Given the description of an element on the screen output the (x, y) to click on. 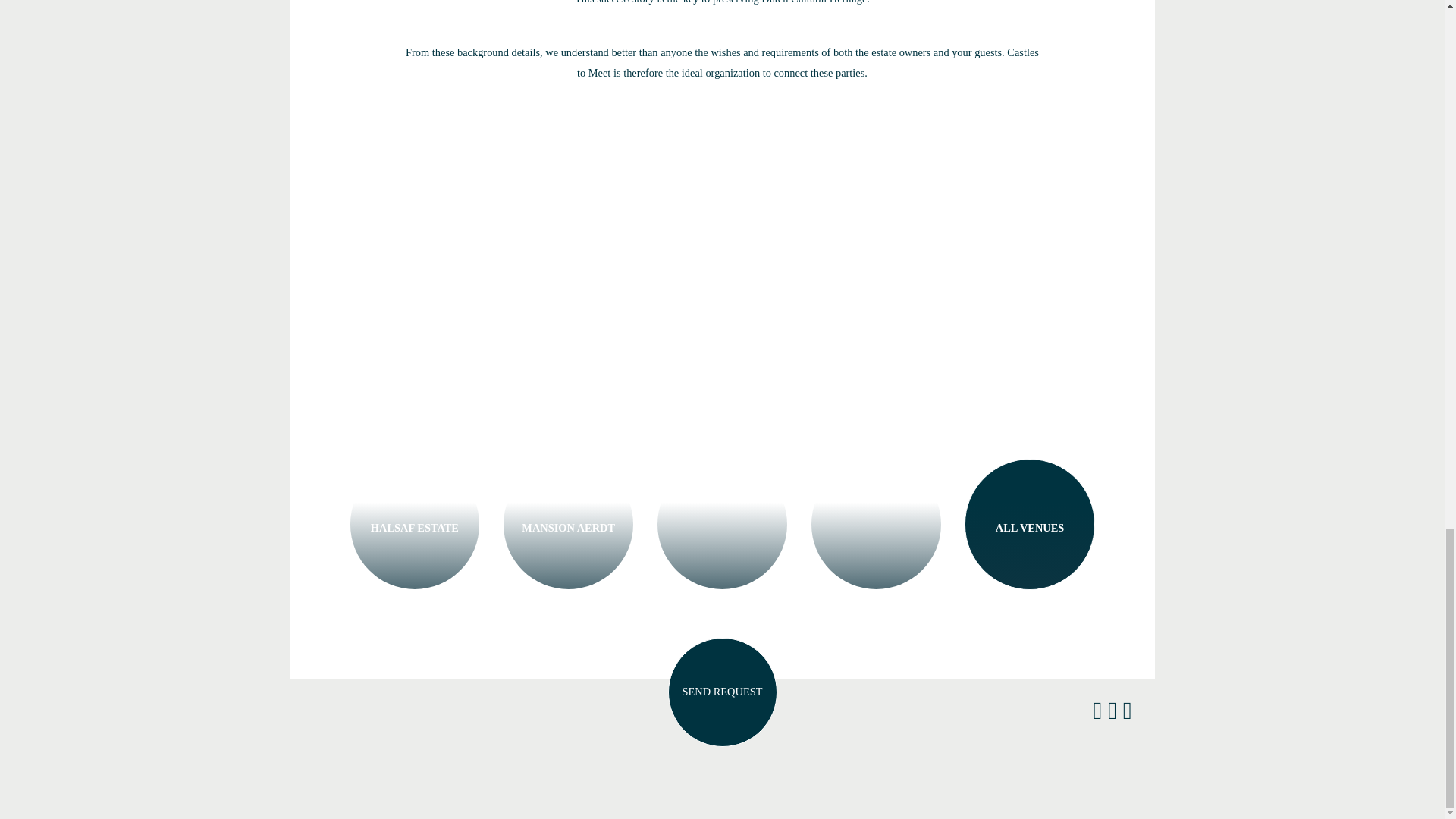
ALL VENUES (1029, 523)
SEND REQUEST (721, 692)
HALSAF ESTATE (414, 523)
MANSION AERDT (567, 523)
